Given the description of an element on the screen output the (x, y) to click on. 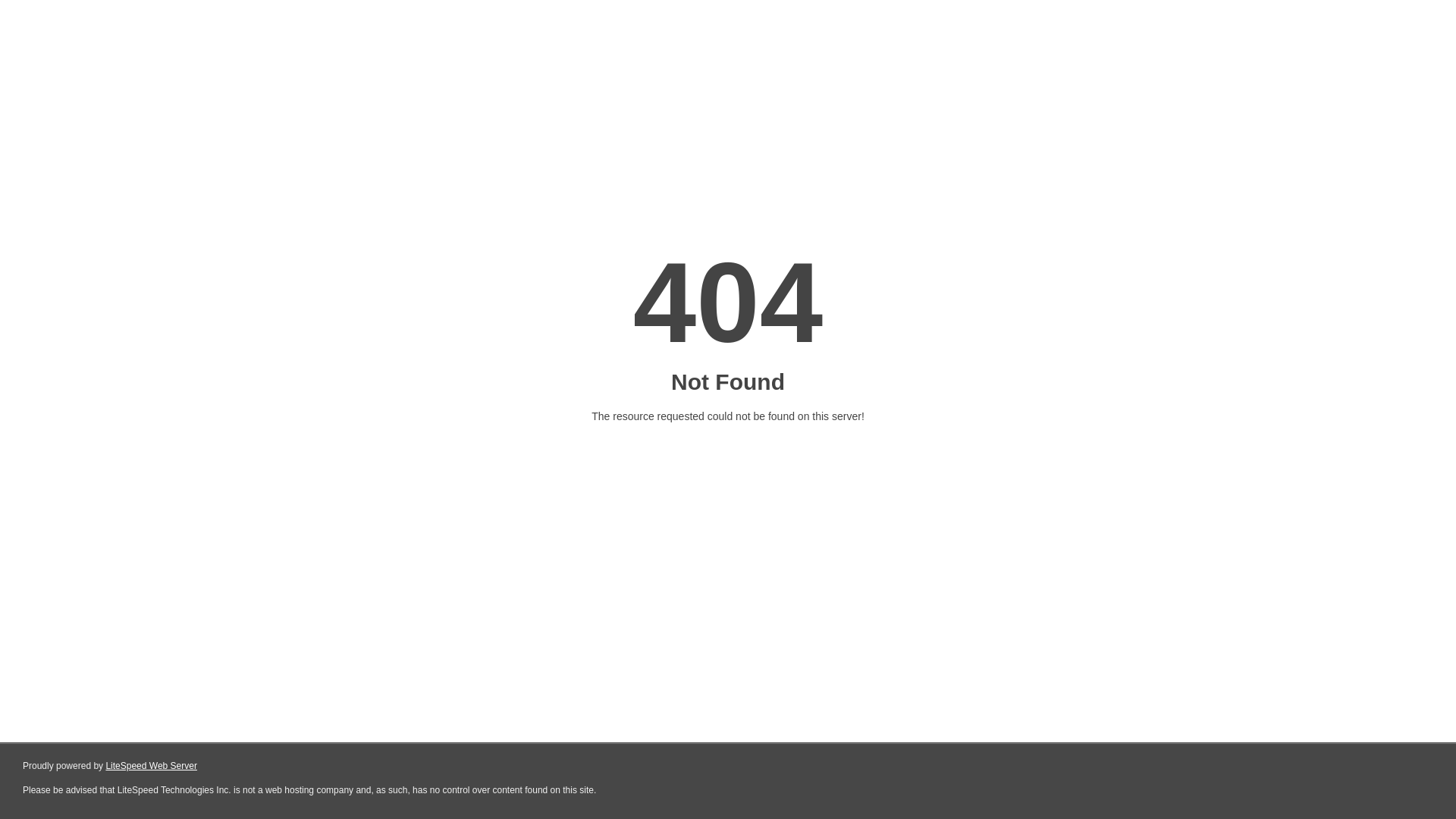
LiteSpeed Web Server Element type: text (151, 765)
